Given the description of an element on the screen output the (x, y) to click on. 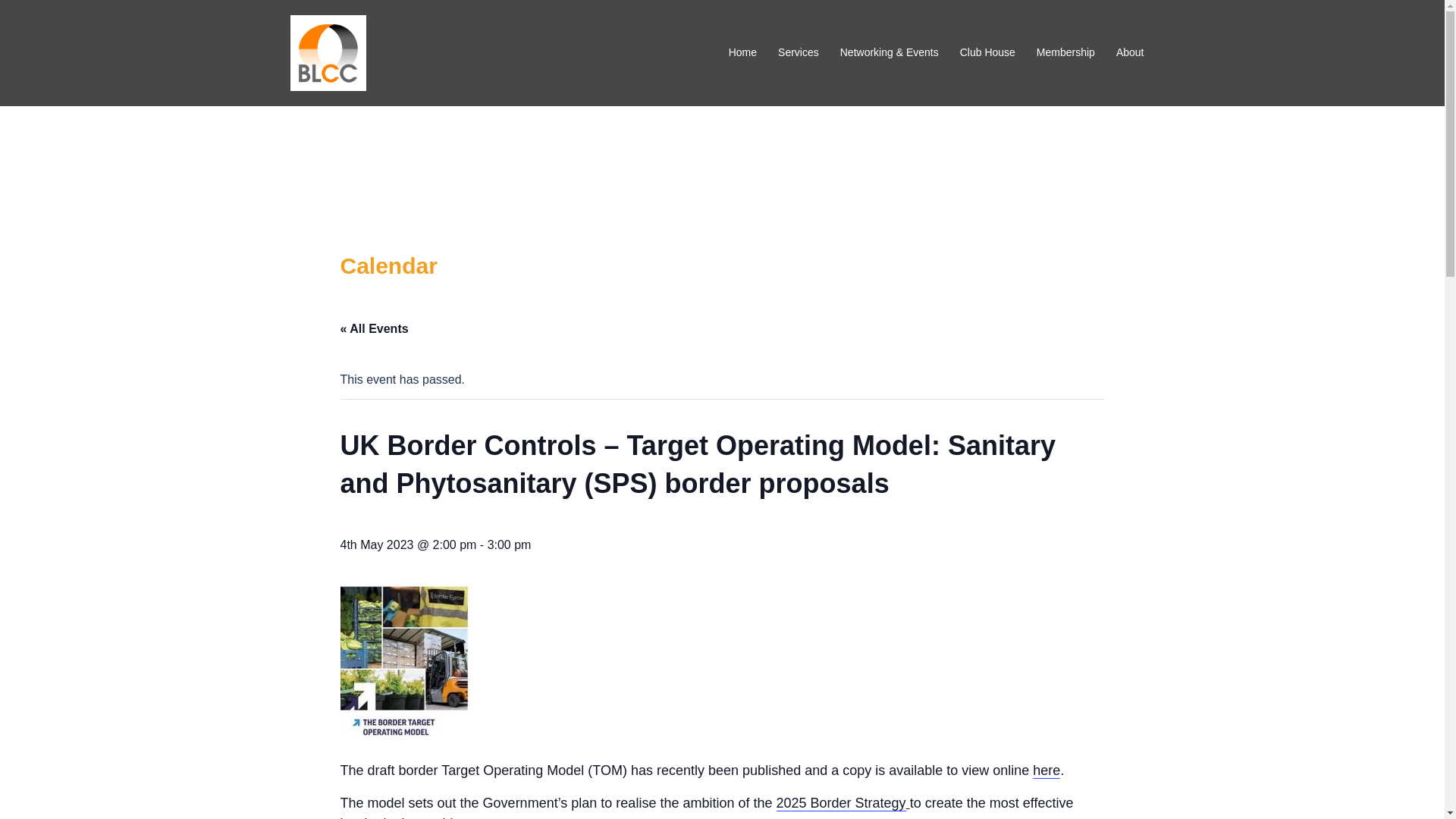
Home (743, 53)
Belgian-Luxembourg Chamber of Commerce in the UK (327, 51)
Membership (1065, 53)
Services (797, 53)
About (1130, 53)
Club House (986, 53)
